Given the description of an element on the screen output the (x, y) to click on. 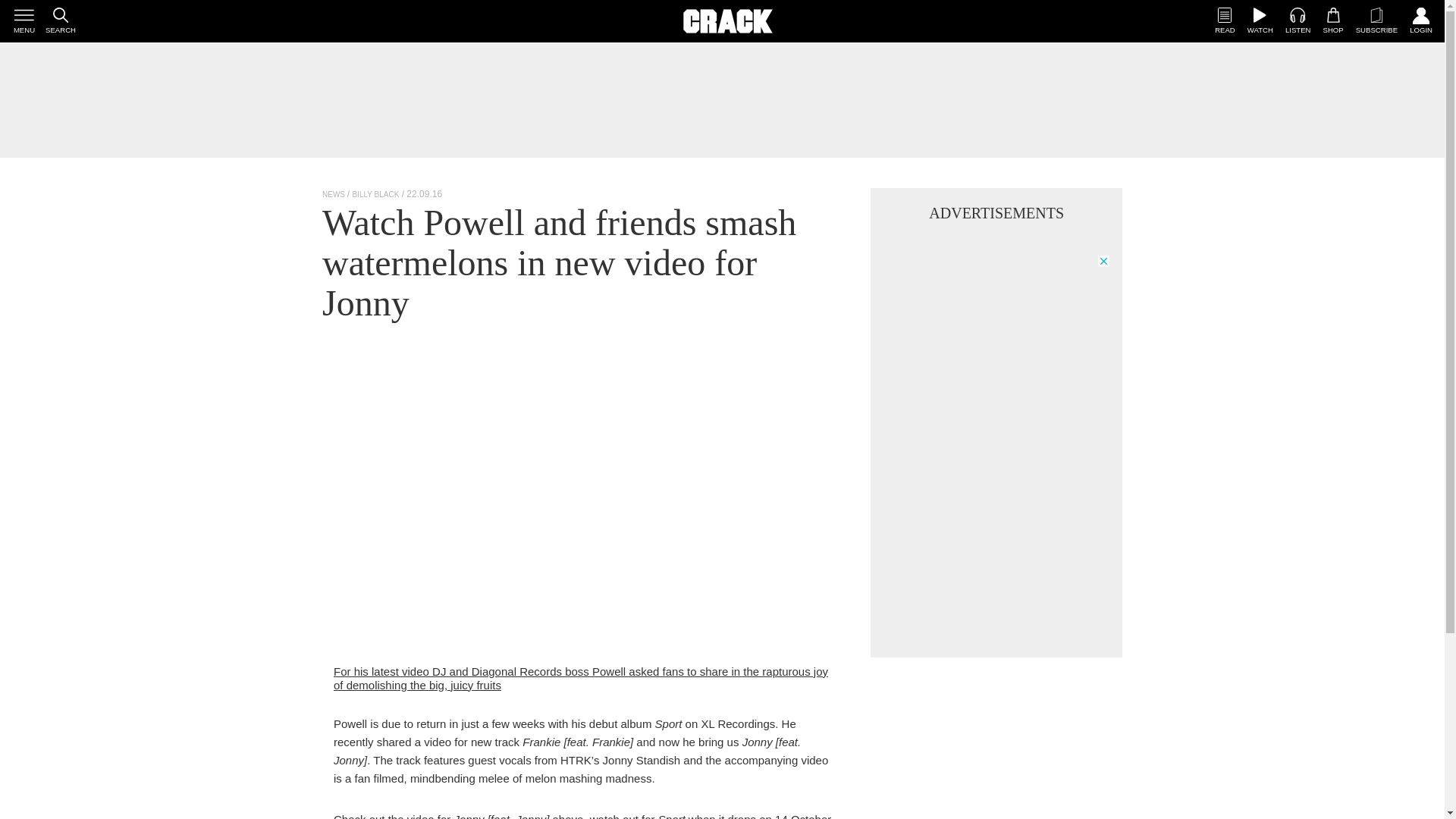
3rd party ad content (995, 349)
3rd party ad content (721, 100)
Posts by Billy Black (375, 194)
View all posts in News (333, 194)
3rd party ad content (995, 550)
